Given the description of an element on the screen output the (x, y) to click on. 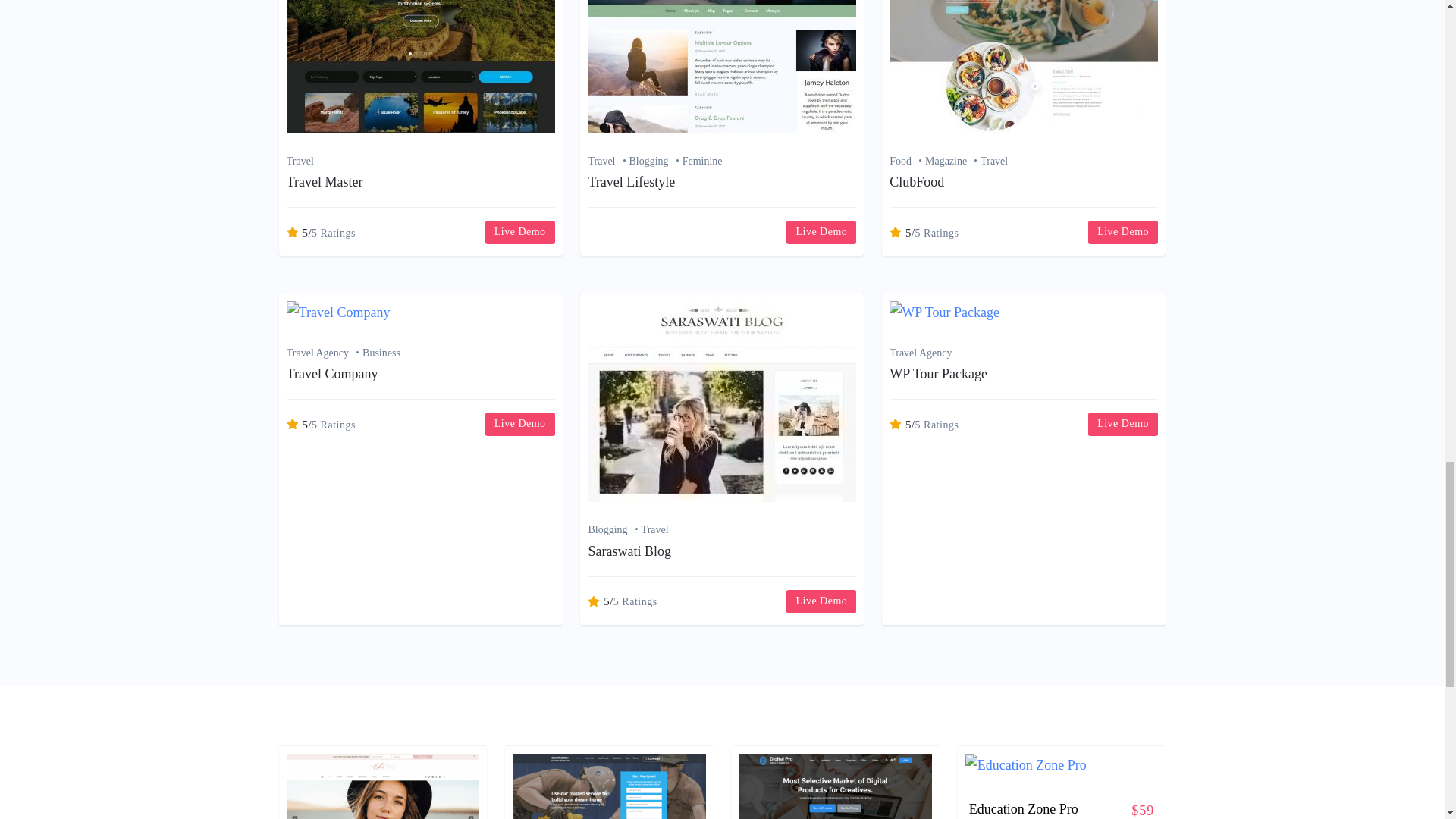
Feminine (702, 161)
Food (906, 161)
Live Demo (519, 232)
Travel (608, 161)
Travel (300, 161)
Live Demo (821, 232)
Blogging (655, 161)
Travel Lifestyle (631, 181)
Magazine (951, 161)
Travel (993, 161)
Travel Master (324, 181)
